Given the description of an element on the screen output the (x, y) to click on. 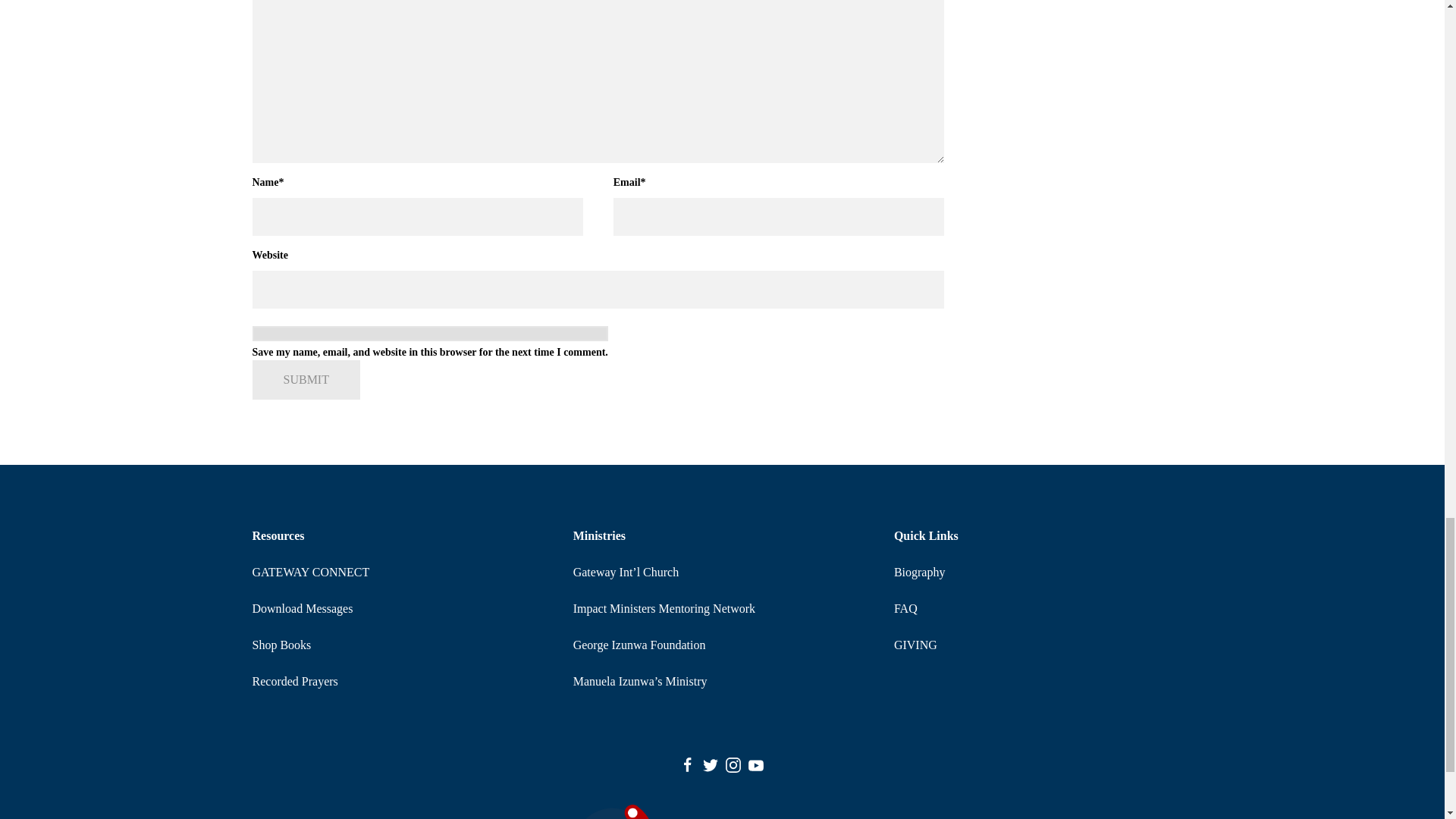
Impact Ministers Mentoring Network (664, 608)
Download Messages (301, 608)
yes (429, 333)
GATEWAY CONNECT (310, 571)
Shop Books (281, 644)
George Izunwa Foundation (639, 644)
SUBMIT (305, 379)
Recorded Prayers (294, 680)
